Given the description of an element on the screen output the (x, y) to click on. 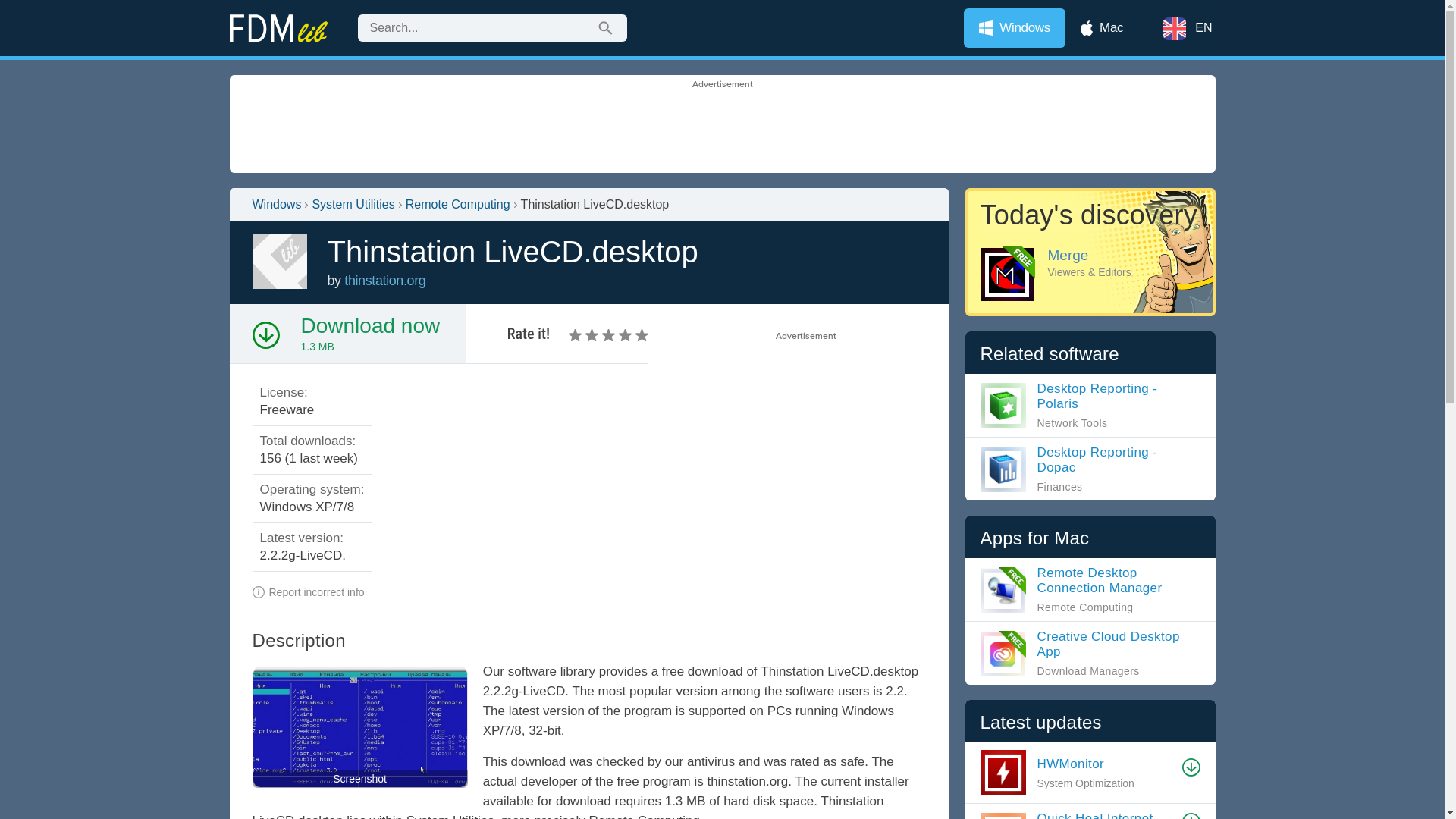
thinstation.org (384, 280)
Remote Computing (458, 204)
Merge (1088, 252)
Remote Desktop Connection Manager (1089, 589)
2 (584, 335)
Mac (1101, 27)
3 (593, 335)
Desktop Reporting - Polaris (1089, 405)
